Given the description of an element on the screen output the (x, y) to click on. 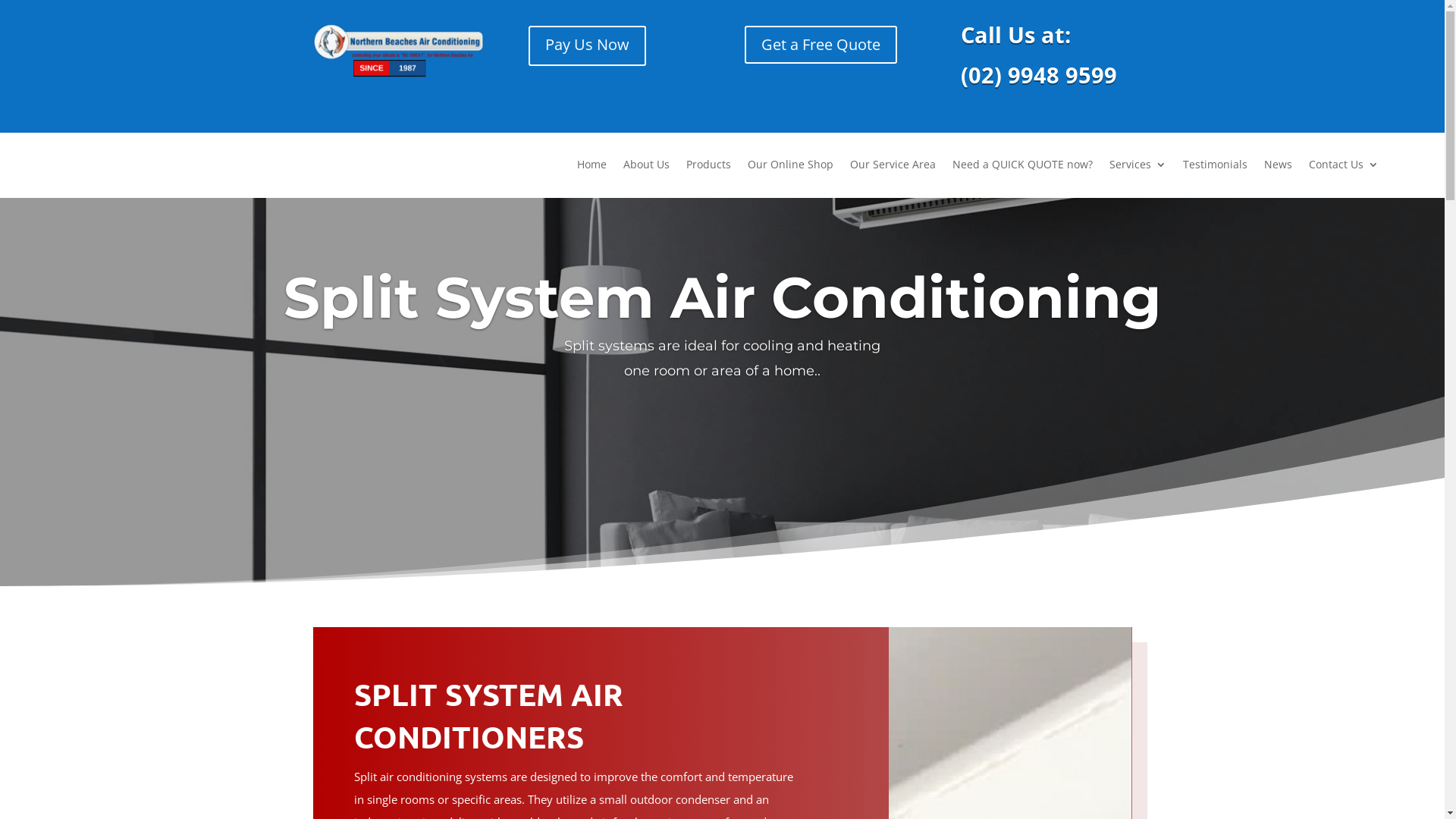
Need a QUICK QUOTE now? Element type: text (1022, 175)
Contact Us Element type: text (1343, 175)
Pay Us Now Element type: text (587, 45)
Home Element type: text (591, 175)
About Us Element type: text (646, 175)
Our Online Shop Element type: text (790, 175)
Products Element type: text (708, 175)
Services Element type: text (1137, 175)
News Element type: text (1278, 175)
Testimonials Element type: text (1215, 175)
Our Service Area Element type: text (892, 175)
Get a Free Quote Element type: text (820, 44)
